Given the description of an element on the screen output the (x, y) to click on. 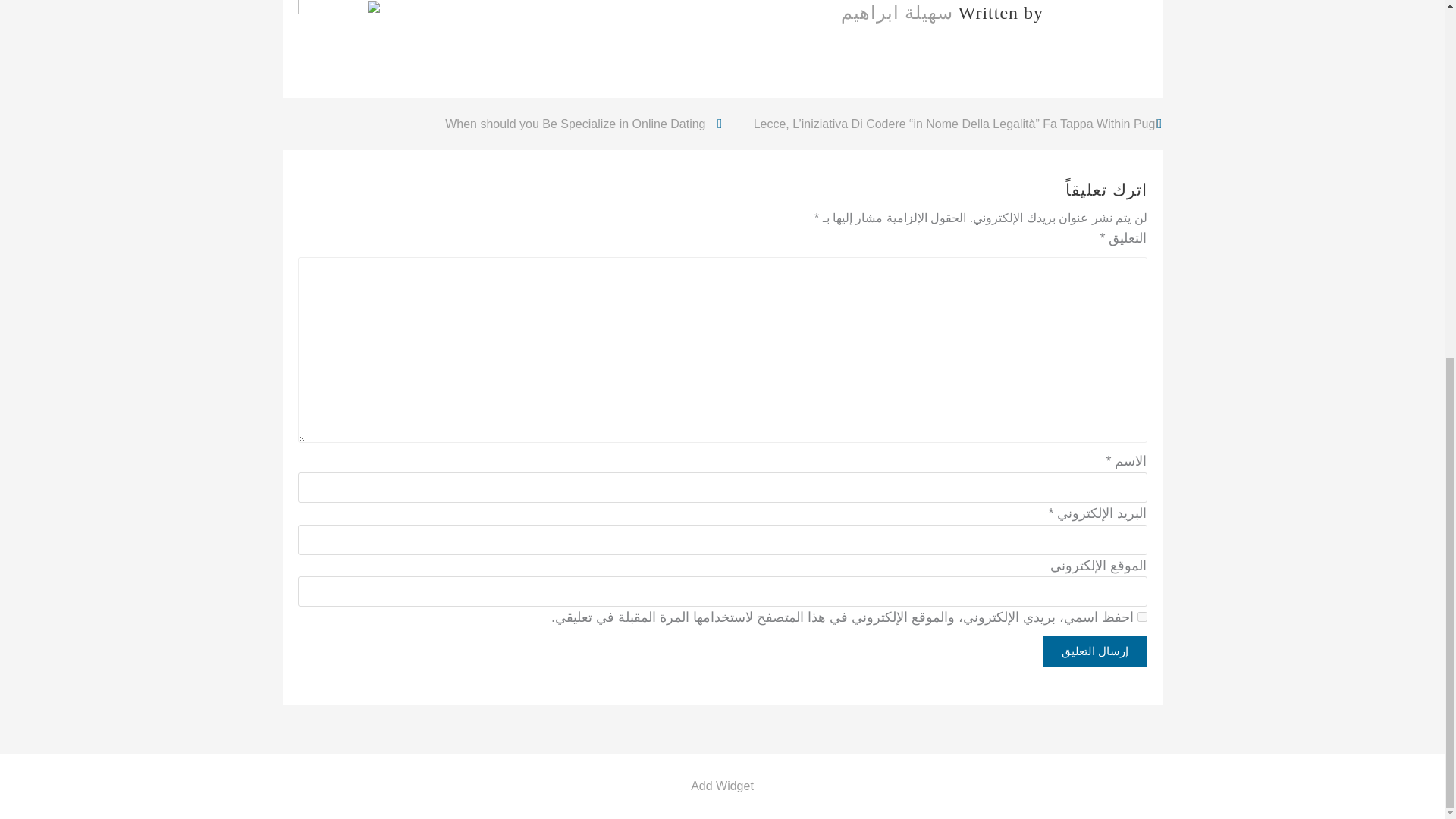
yes (1142, 616)
Add Widget (722, 786)
When should you Be Specialize in Online Dating (582, 124)
